Given the description of an element on the screen output the (x, y) to click on. 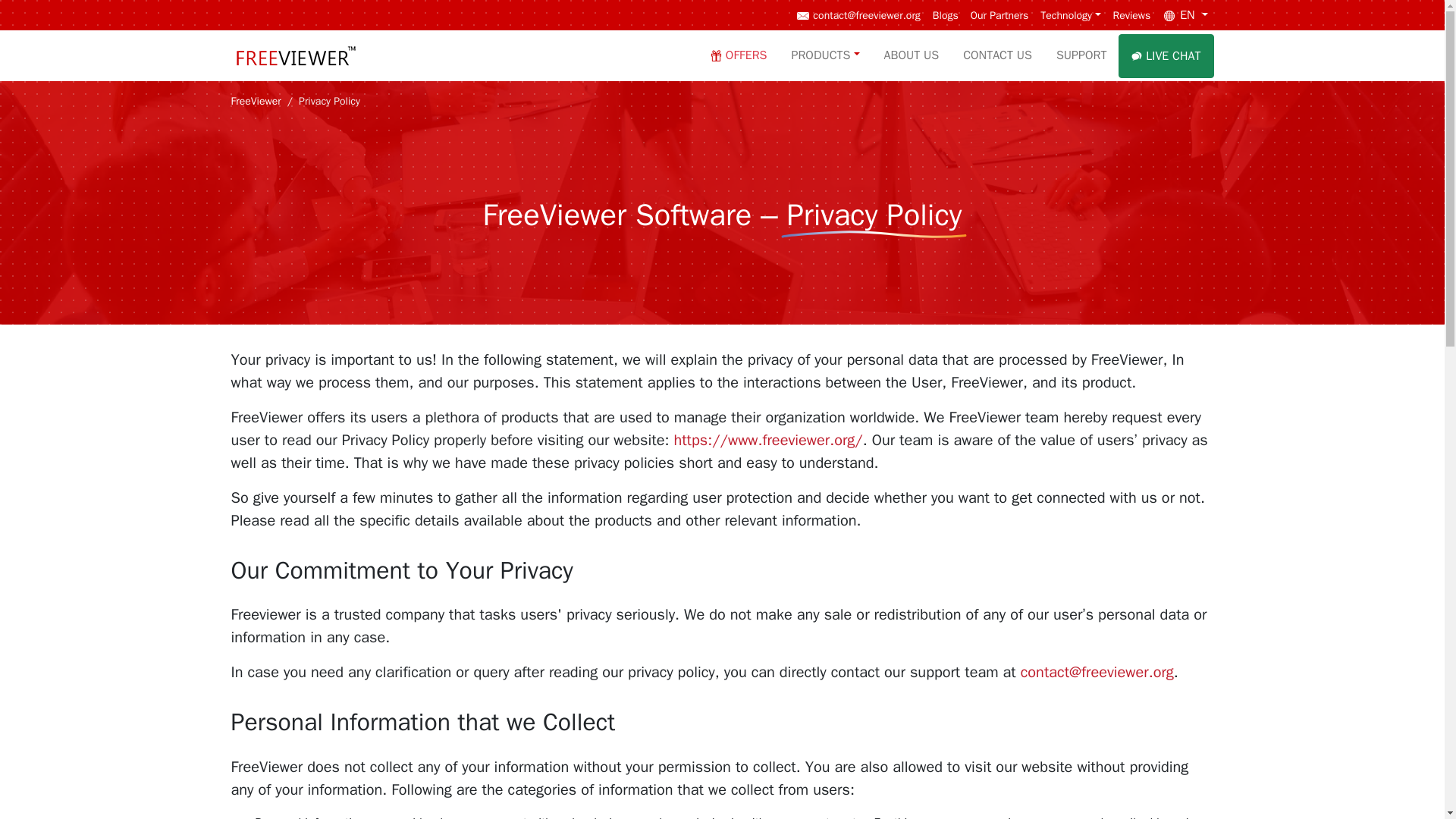
Technology (1069, 15)
Blogs (944, 15)
SUPPORT (1081, 54)
ABOUT US (912, 54)
OFFERS (738, 54)
Reviews (1131, 15)
FreeViewer (255, 101)
 EN (1184, 15)
CONTACT US (996, 54)
 LIVE CHAT (1165, 54)
PRODUCTS (824, 54)
Our Partners (999, 15)
